Given the description of an element on the screen output the (x, y) to click on. 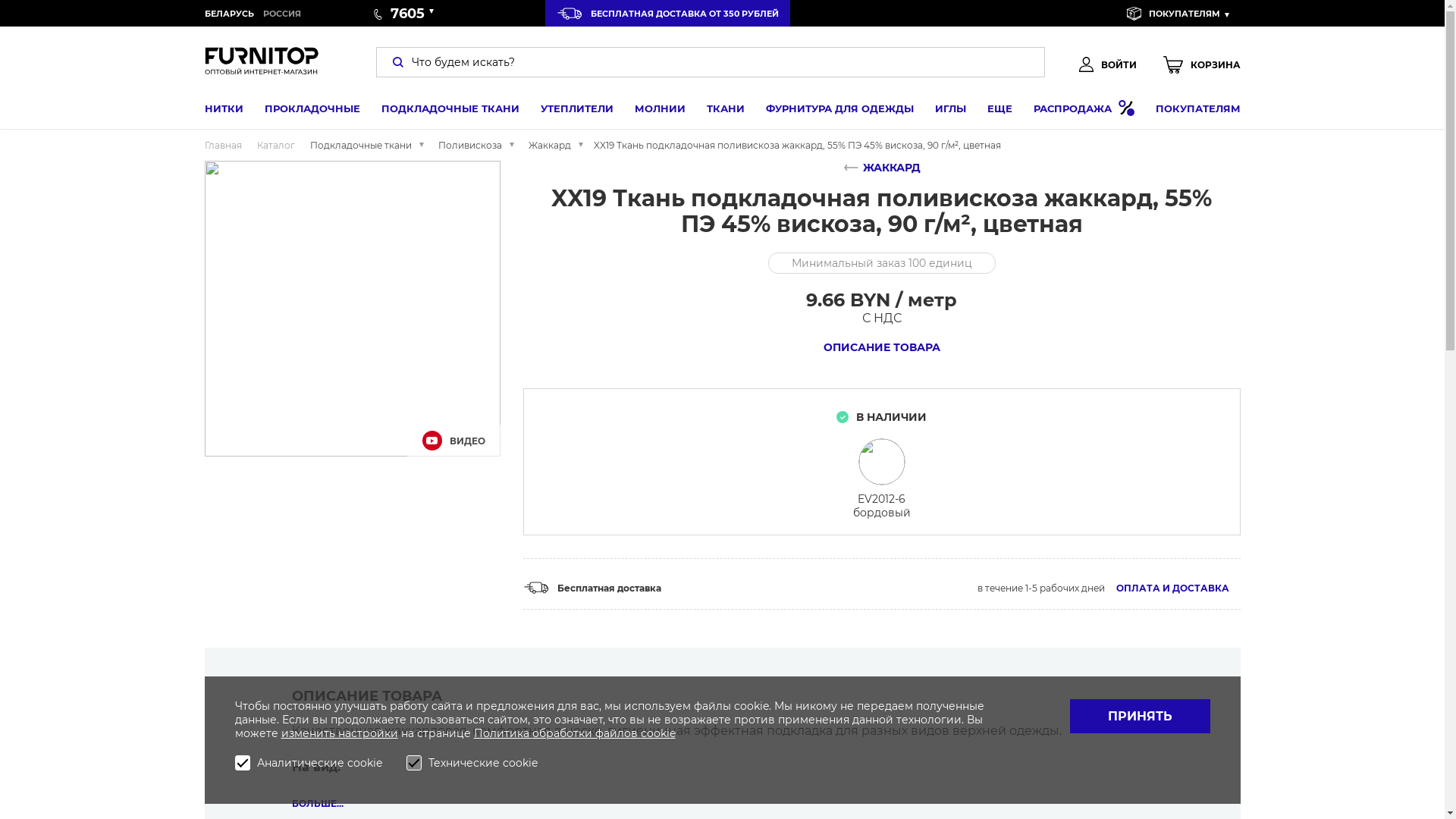
cookie Element type: text (657, 733)
